Given the description of an element on the screen output the (x, y) to click on. 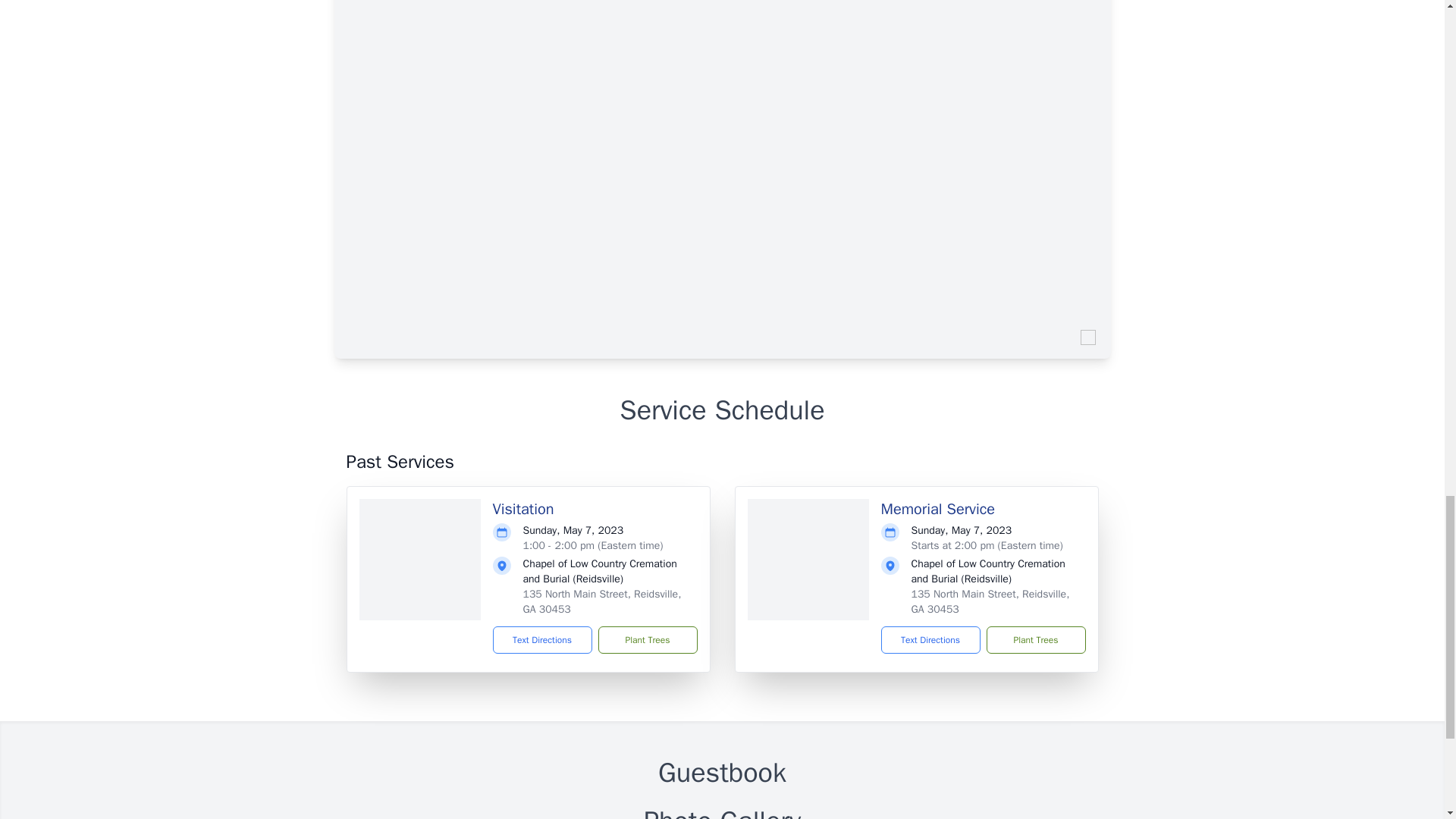
135 North Main Street, Reidsville, GA 30453 (990, 601)
Text Directions (542, 639)
Plant Trees (646, 639)
Text Directions (929, 639)
Plant Trees (1034, 639)
135 North Main Street, Reidsville, GA 30453 (601, 601)
